Given the description of an element on the screen output the (x, y) to click on. 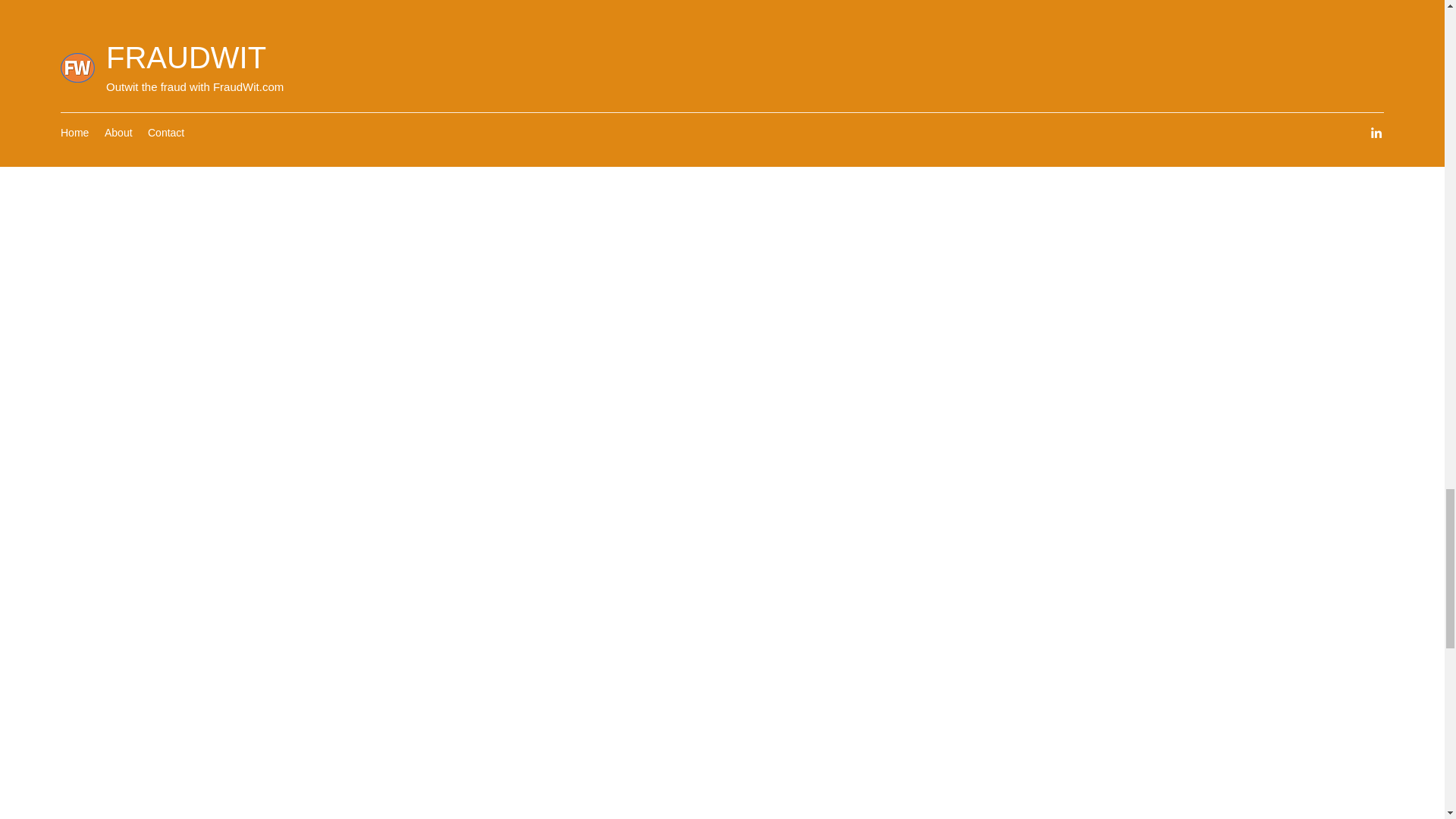
0 (931, 23)
Post not marked as liked (804, 23)
0 (440, 23)
0 (685, 23)
Post not marked as liked (558, 23)
Post not marked as liked (1050, 23)
